Given the description of an element on the screen output the (x, y) to click on. 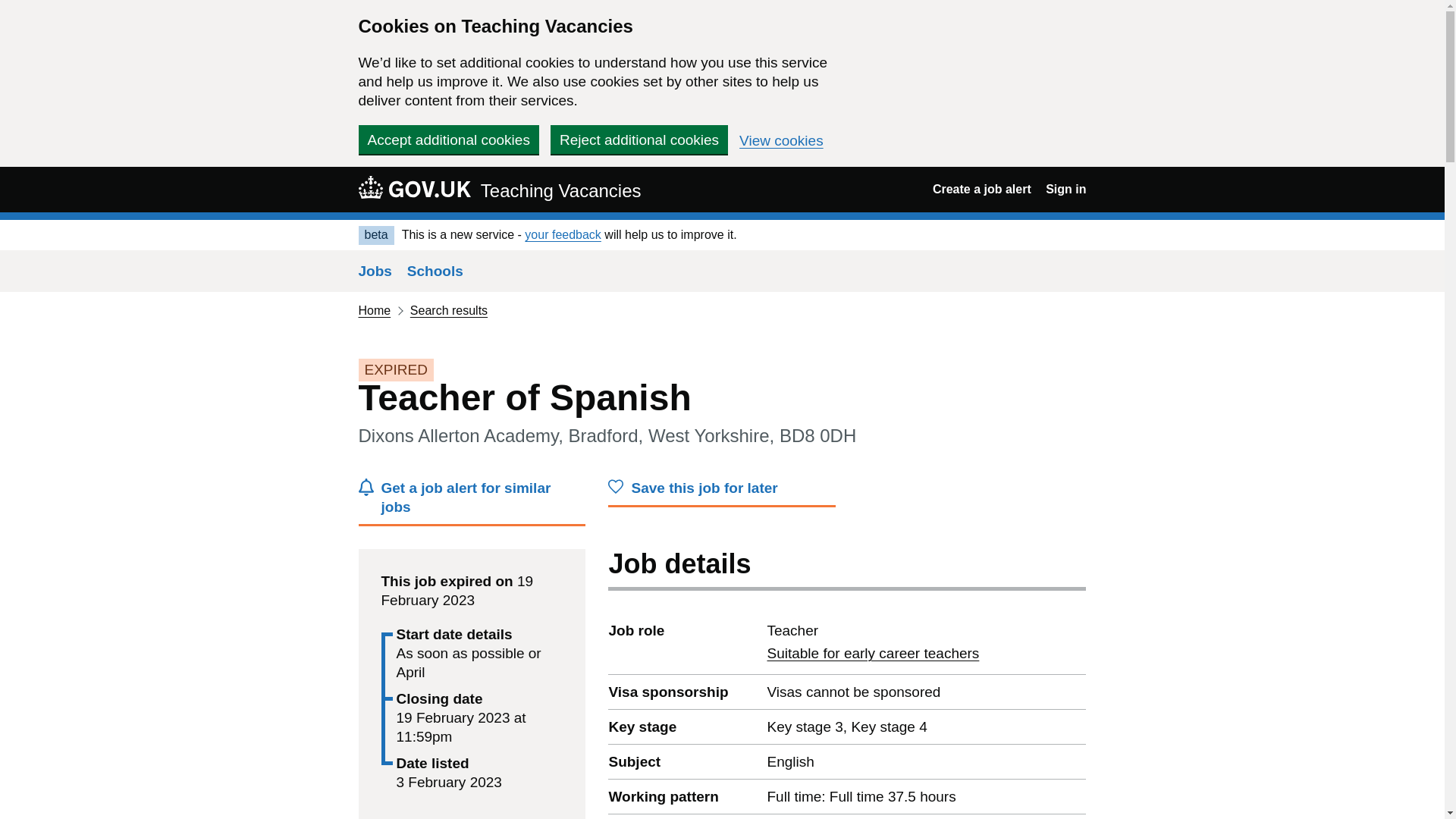
Skip to main content (872, 652)
Search results (11, 174)
Reject additional cookies (448, 309)
Create a job alert (639, 139)
View cookies (981, 188)
your feedback (781, 140)
Schools (562, 234)
GOV.UK Teaching Vacancies (435, 270)
Home (499, 188)
GOV.UK (374, 309)
Accept additional cookies (414, 187)
Save this job for later (448, 139)
Get a job alert for similar jobs (721, 491)
Sign in (471, 501)
